Given the description of an element on the screen output the (x, y) to click on. 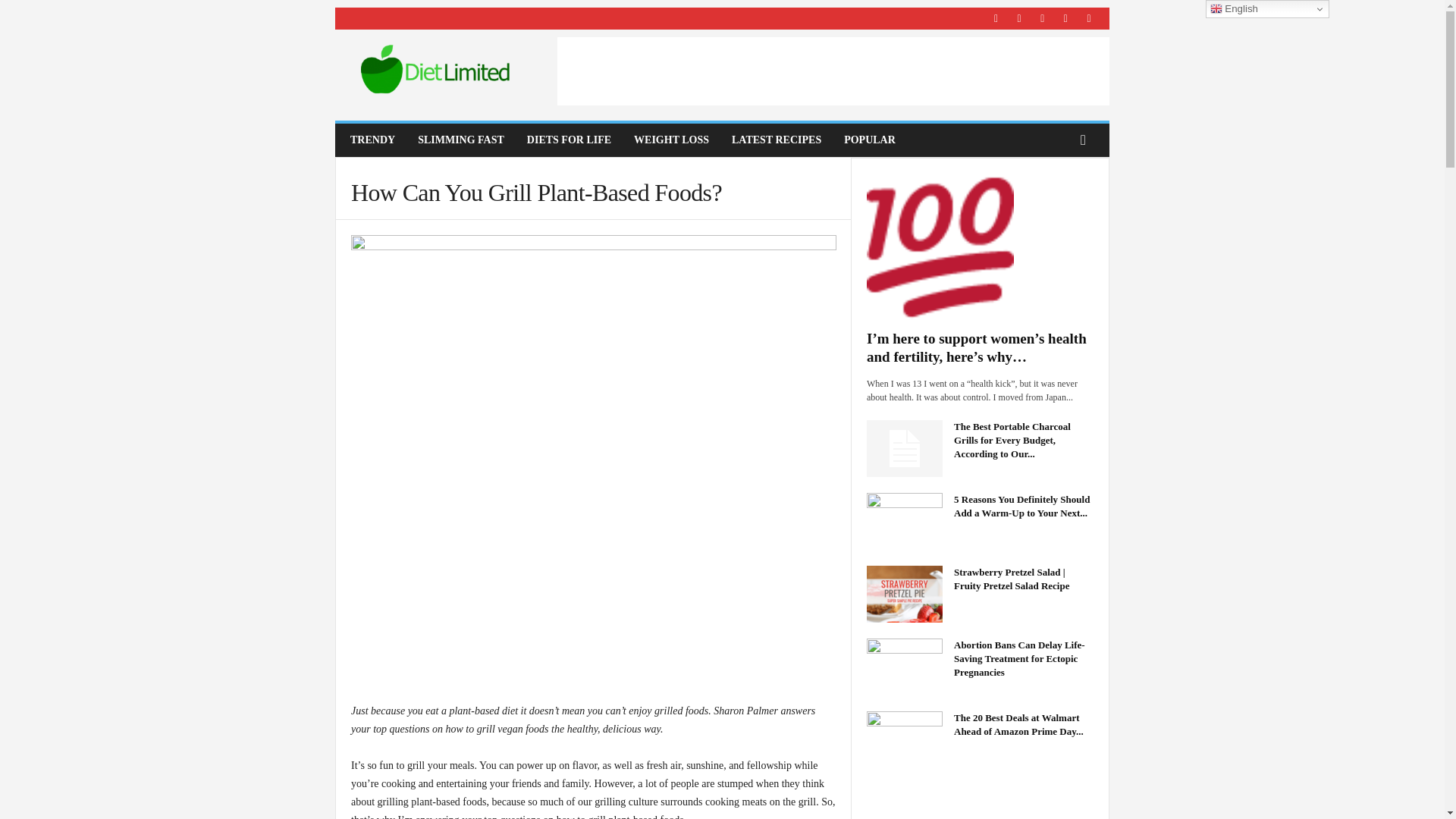
Advertisement (833, 70)
